Given the description of an element on the screen output the (x, y) to click on. 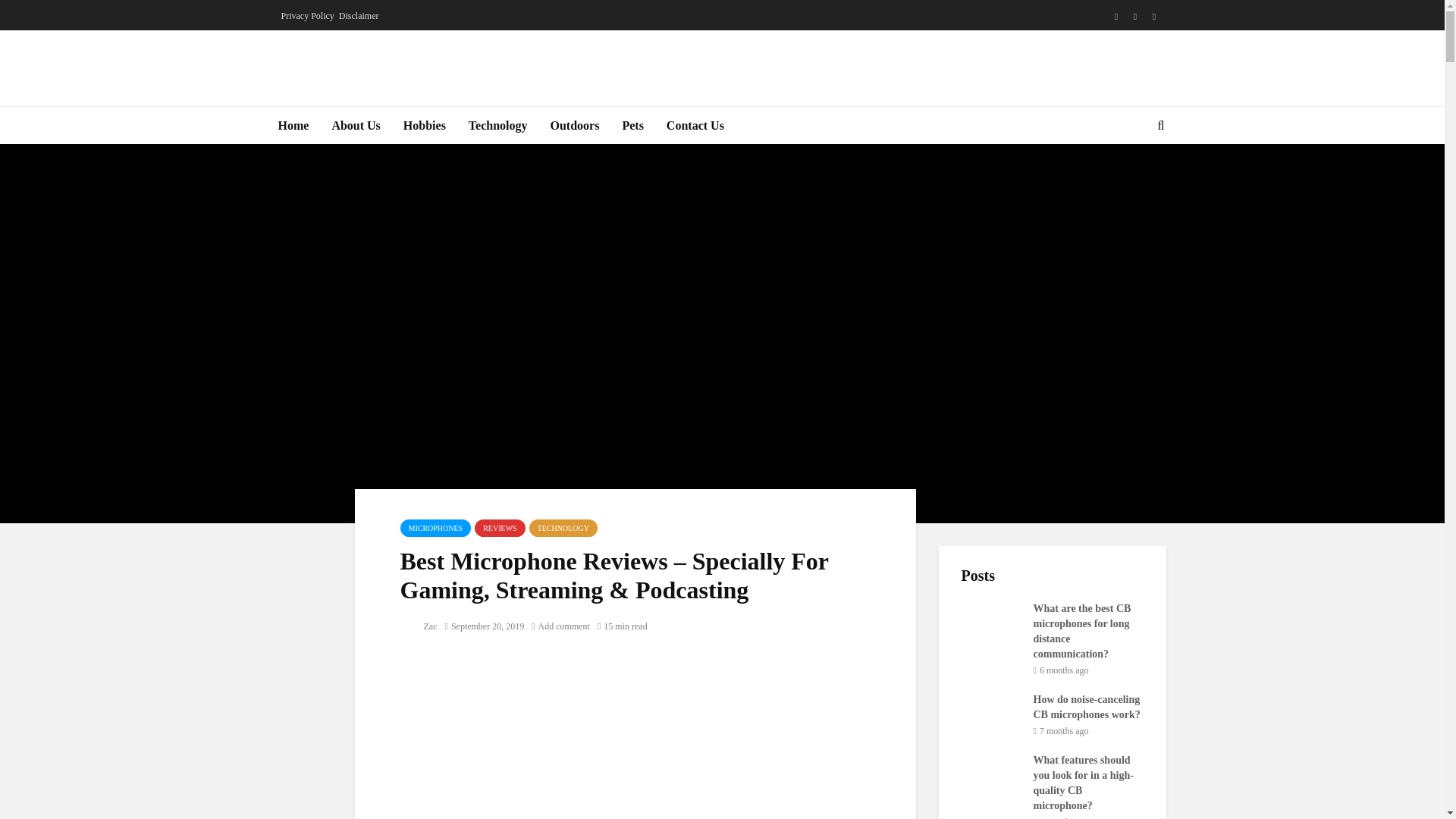
Outdoors (574, 125)
Disclaimer (358, 15)
Hobbies (424, 125)
Home (293, 125)
Privacy Policy (307, 15)
About Us (355, 125)
Contact Us (695, 125)
Technology (497, 125)
Pets (631, 125)
